Given the description of an element on the screen output the (x, y) to click on. 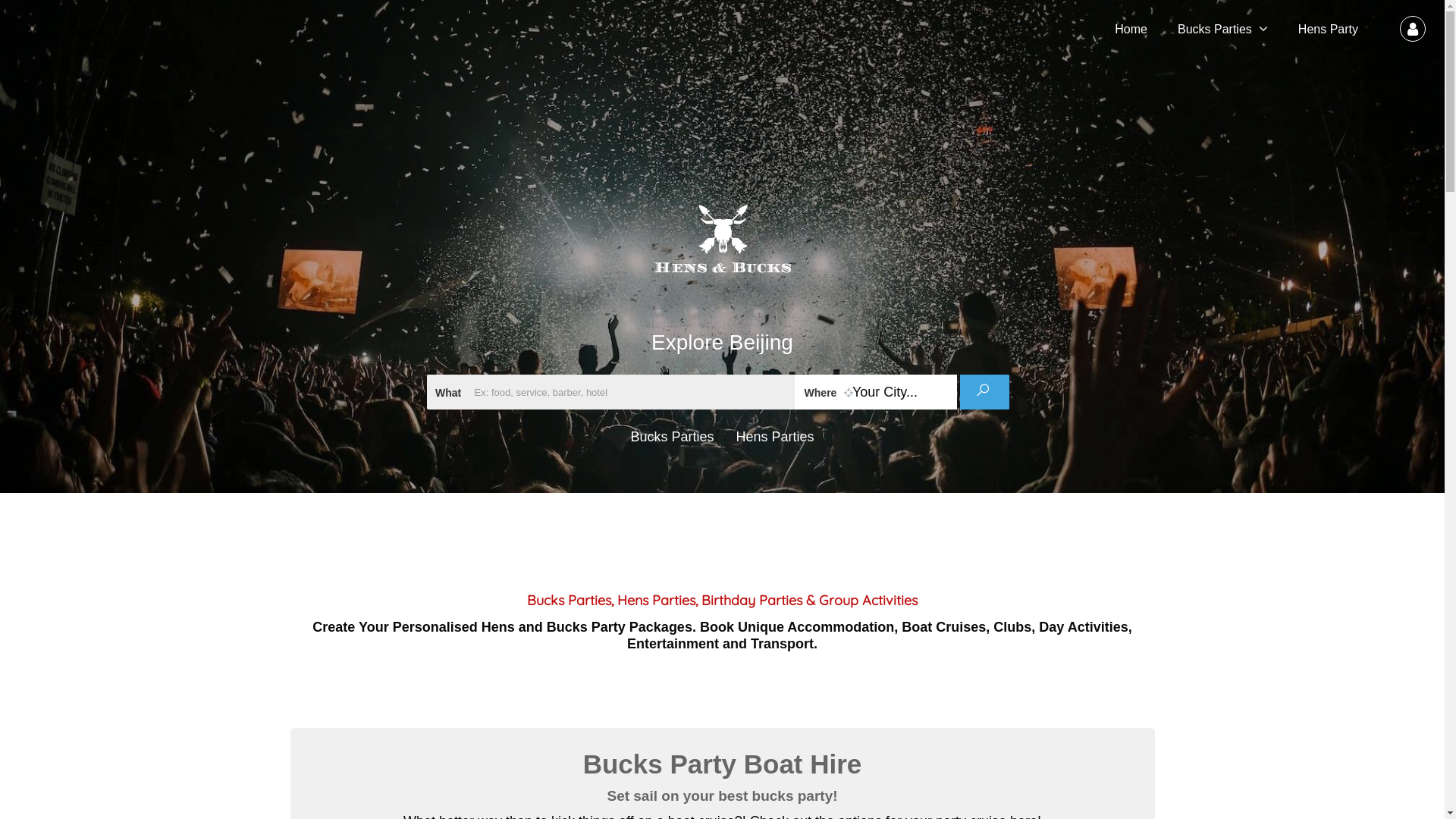
Home Element type: text (1130, 28)
Bucks Parties Element type: text (1214, 28)
Bucks Parties Element type: text (671, 436)
Your City... Element type: text (875, 391)
Hens Parties Element type: text (774, 436)
Hens Party Element type: text (1328, 28)
